Given the description of an element on the screen output the (x, y) to click on. 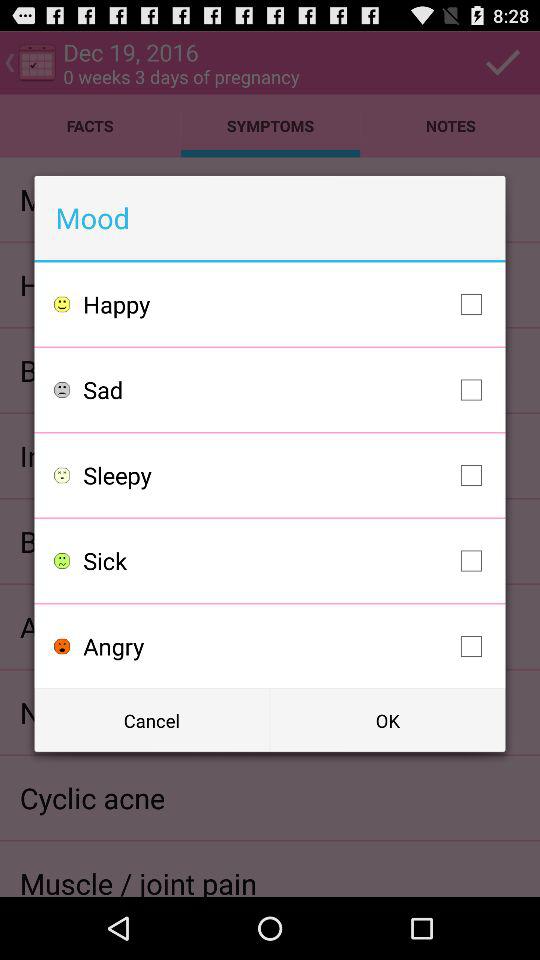
open icon below sad (287, 475)
